Given the description of an element on the screen output the (x, y) to click on. 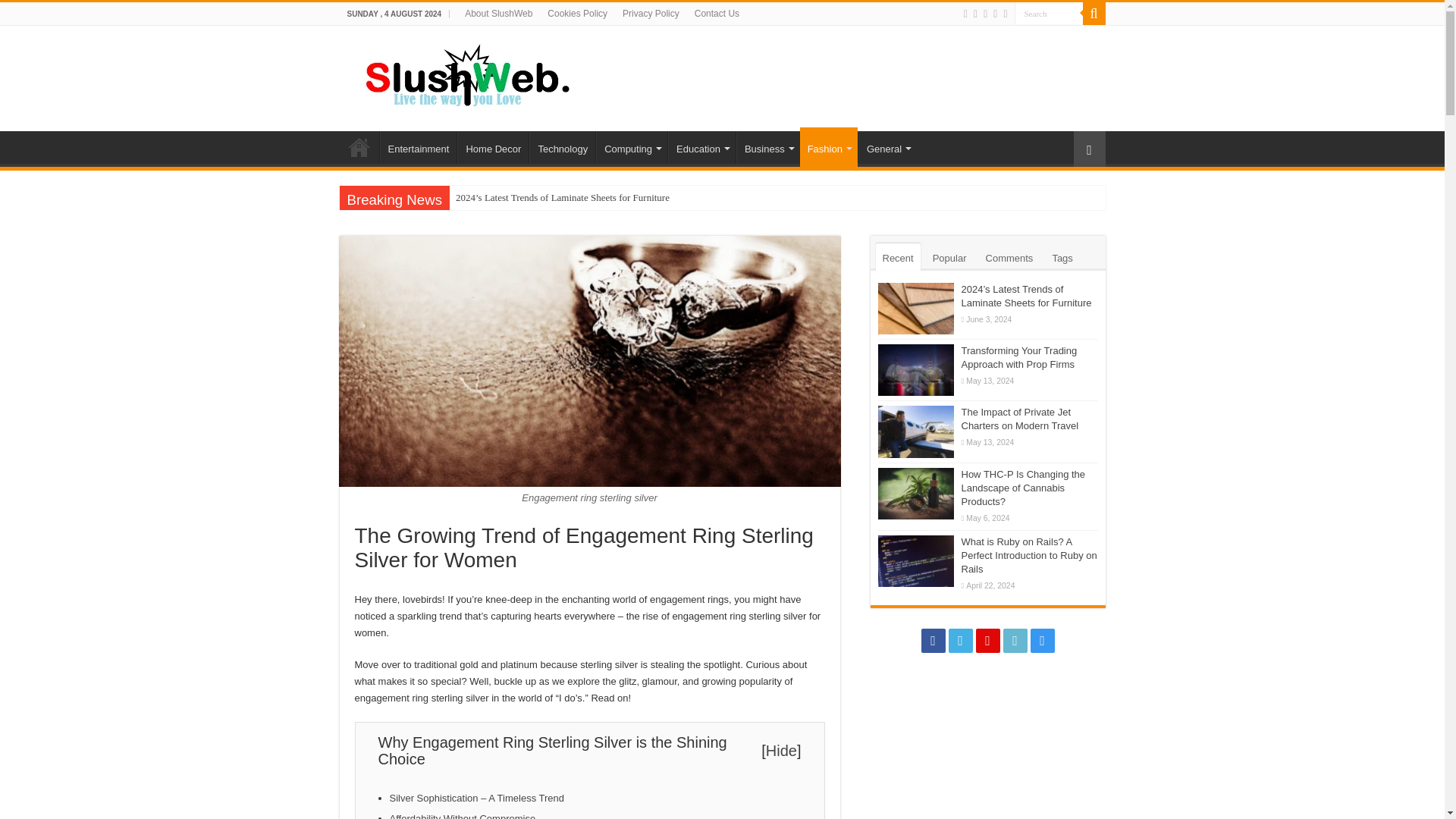
Search (1094, 13)
Contact Us (716, 13)
Privacy Policy (650, 13)
SlushWeb (464, 75)
Search (1048, 13)
Cookies Policy (577, 13)
Search (1048, 13)
About SlushWeb (498, 13)
Search (1048, 13)
